Given the description of an element on the screen output the (x, y) to click on. 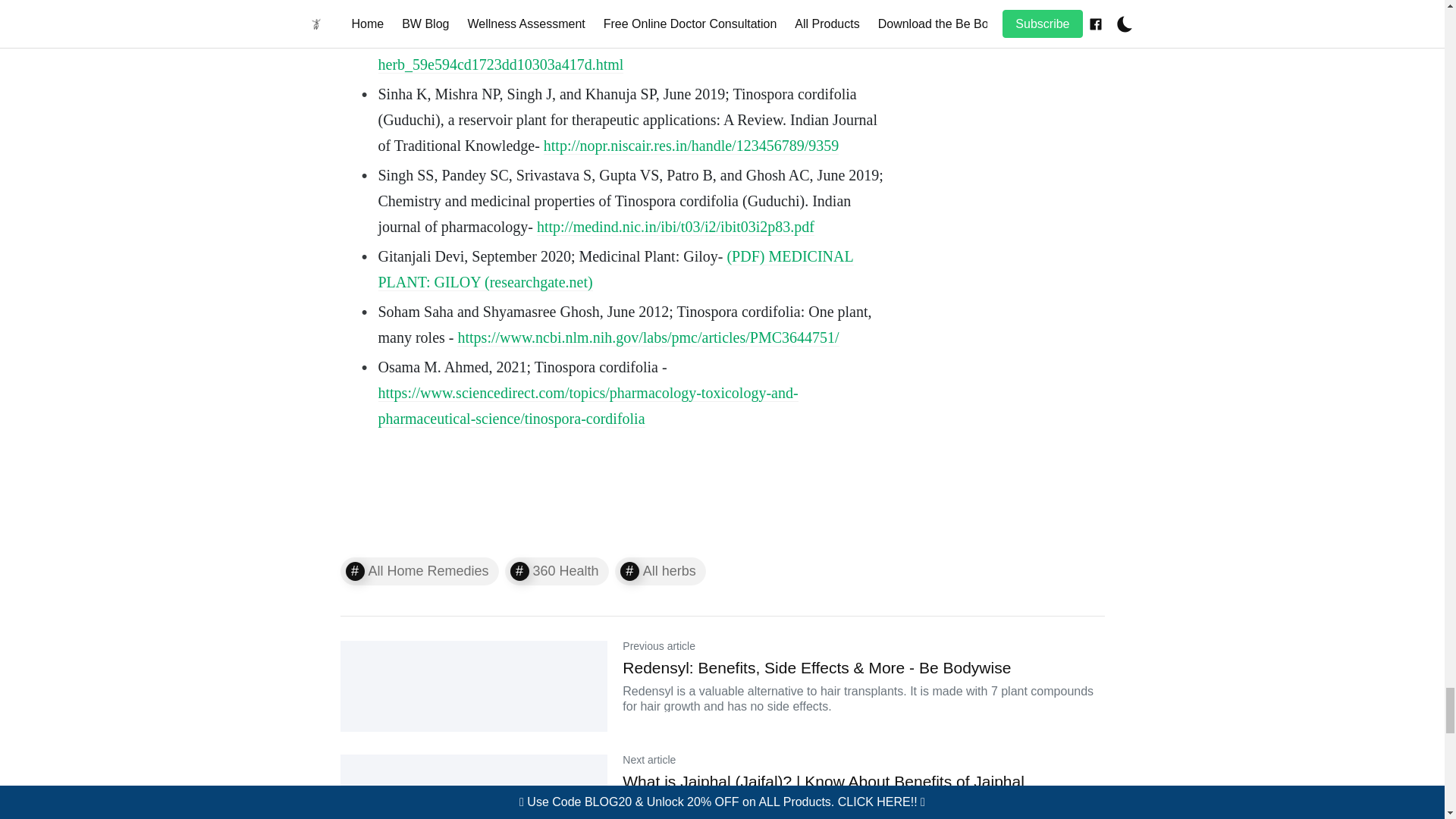
360 Health (556, 571)
All Home Remedies (418, 571)
All herbs (660, 571)
